Given the description of an element on the screen output the (x, y) to click on. 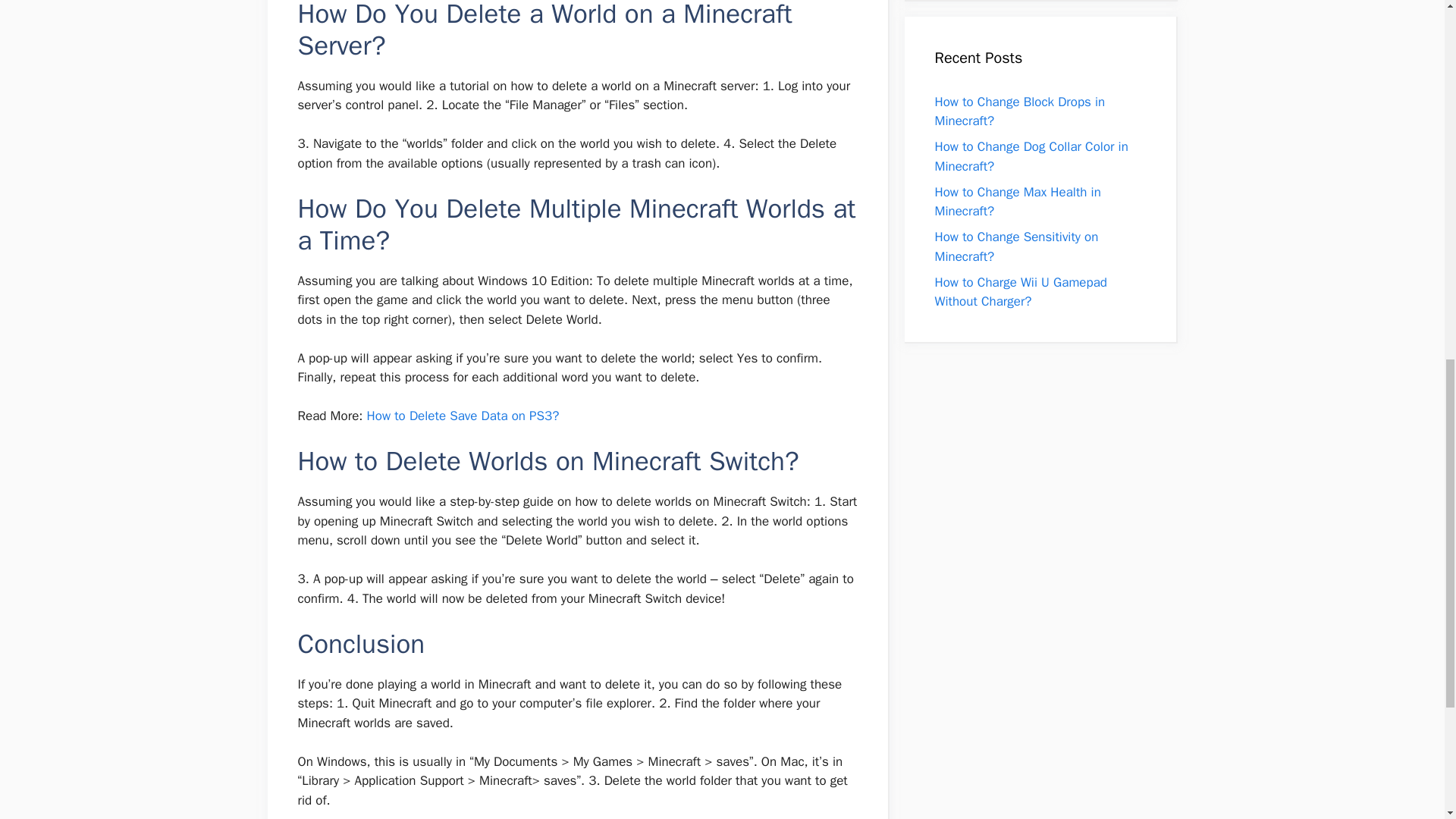
How to Change Block Drops in Minecraft? (1019, 111)
How to Charge Wii U Gamepad Without Charger? (1020, 292)
Scroll back to top (1406, 720)
How to Delete Save Data on PS3? (462, 415)
How to Change Dog Collar Color in Minecraft? (1030, 156)
How to Change Max Health in Minecraft? (1017, 201)
How to Change Sensitivity on Minecraft? (1015, 246)
